Given the description of an element on the screen output the (x, y) to click on. 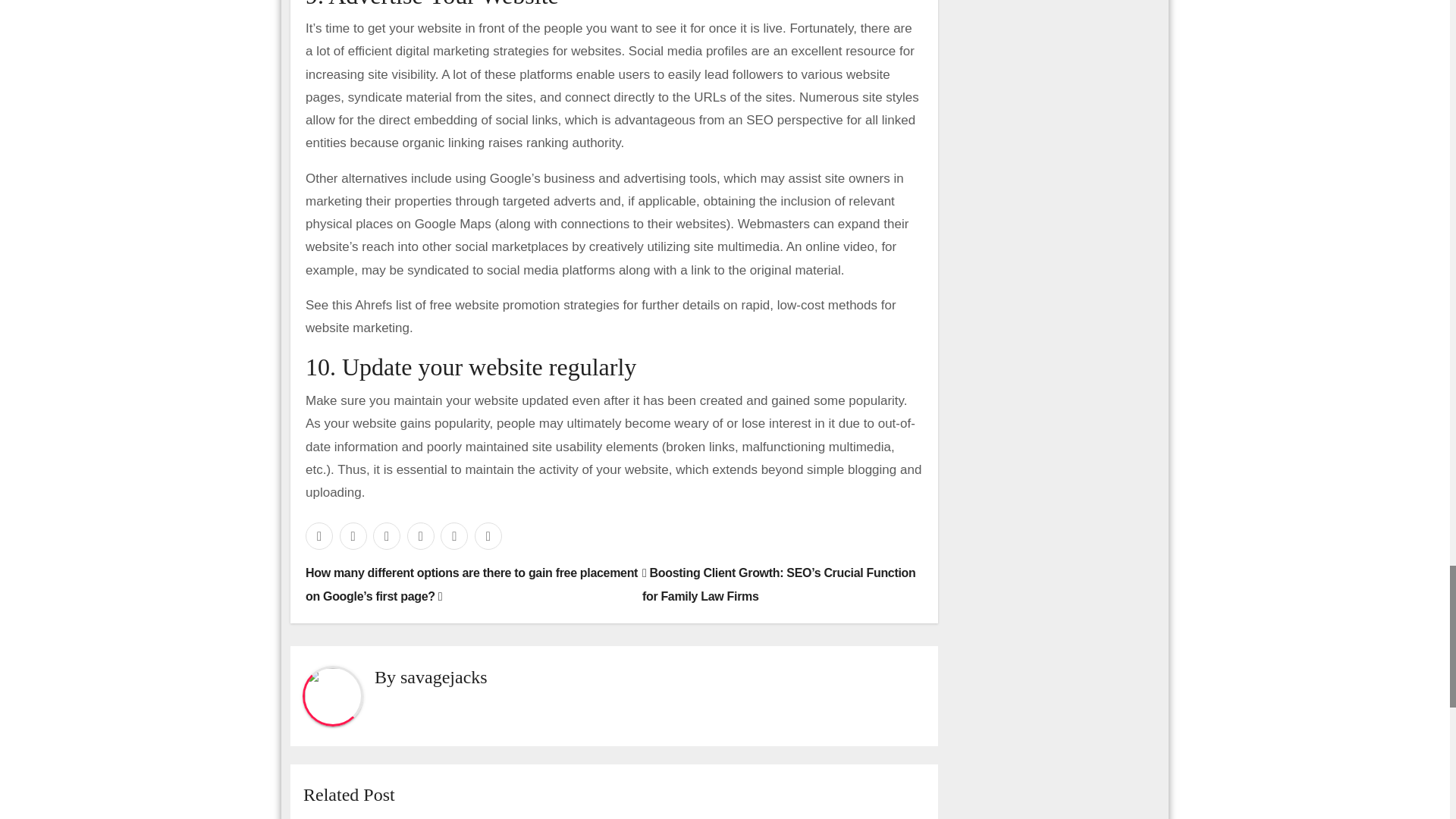
savagejacks (443, 677)
Permalink to: Ten Approaches to Display Creativity at Work (863, 818)
Qualities of a Business Award Writer to Consider (649, 818)
